Given the description of an element on the screen output the (x, y) to click on. 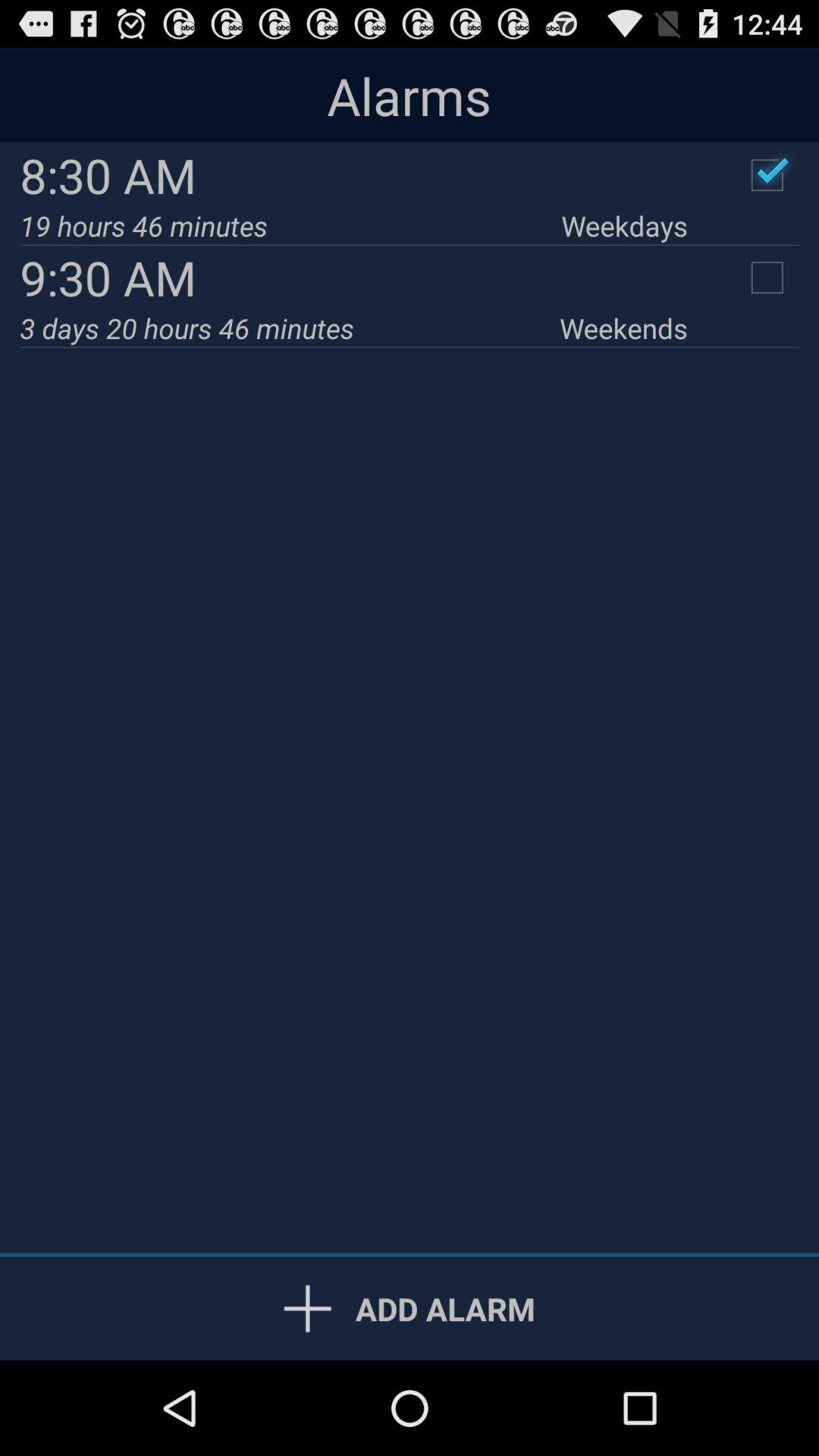
turn off the app next to weekends item (289, 327)
